Given the description of an element on the screen output the (x, y) to click on. 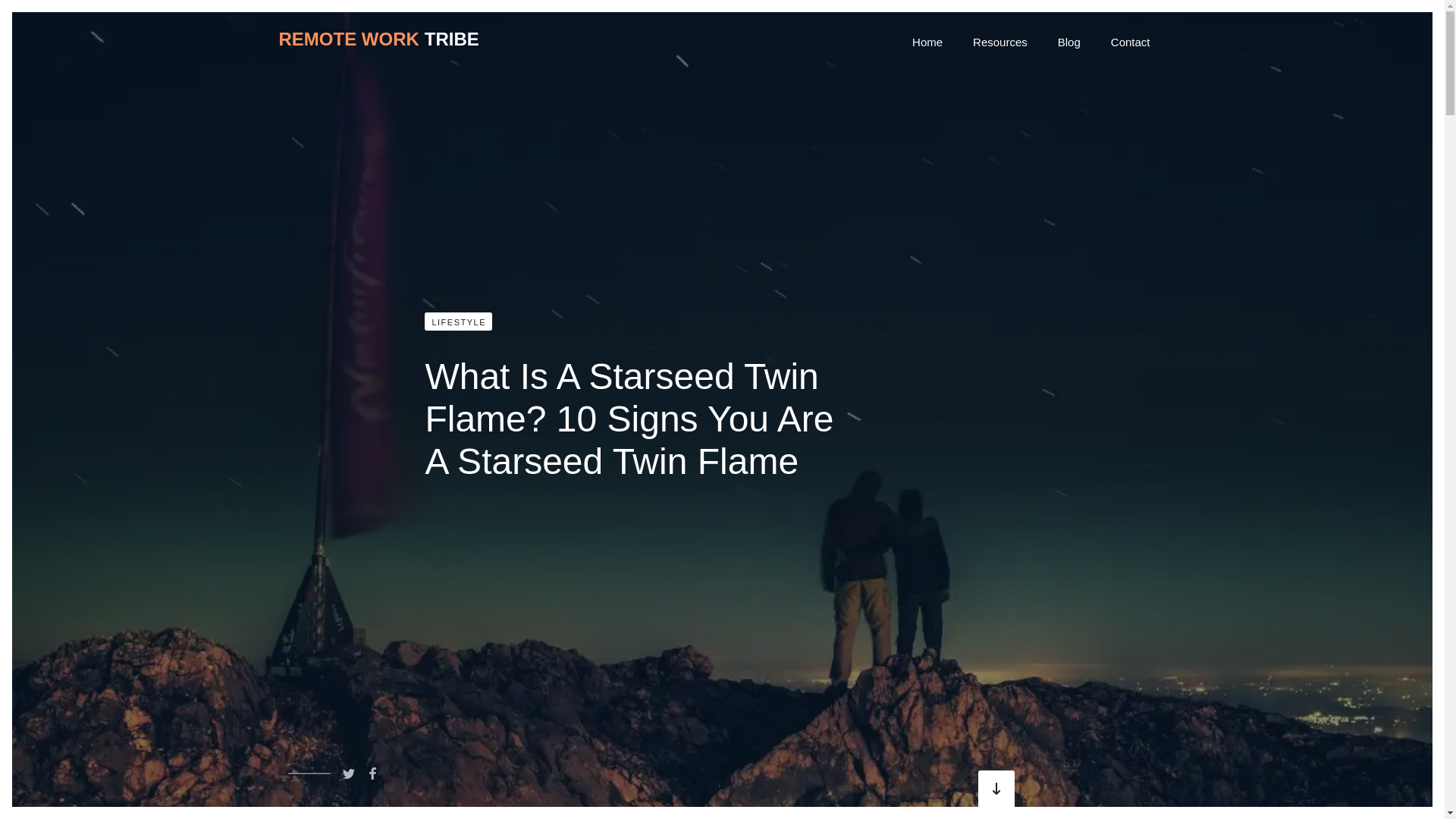
Blog (1069, 42)
Resources (1000, 42)
Contact (1131, 42)
LIFESTYLE (458, 321)
Home (927, 42)
REMOTE WORK  TRIBE (377, 42)
